Given the description of an element on the screen output the (x, y) to click on. 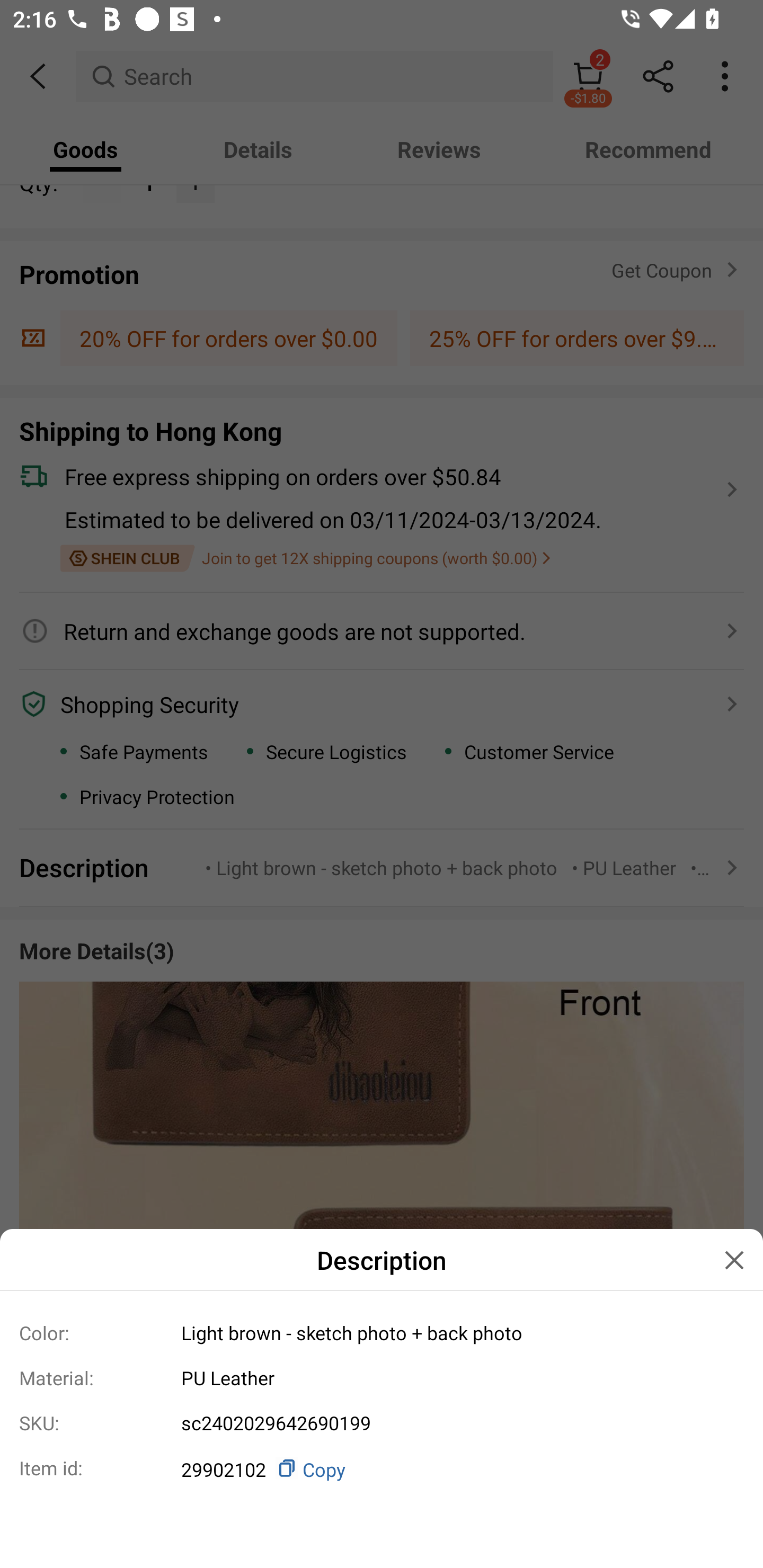
Close (734, 1260)
Color: Light brown - sketch photo + back photo (381, 1331)
Light brown - sketch photo + back photo (455, 1332)
Material: PU Leather (381, 1377)
PU Leather (455, 1377)
SKU: sc2402029642690199 (381, 1422)
sc2402029642690199 (455, 1422)
Item id: 29902102    Copy (381, 1468)
29902102    Copy (455, 1468)
